Given the description of an element on the screen output the (x, y) to click on. 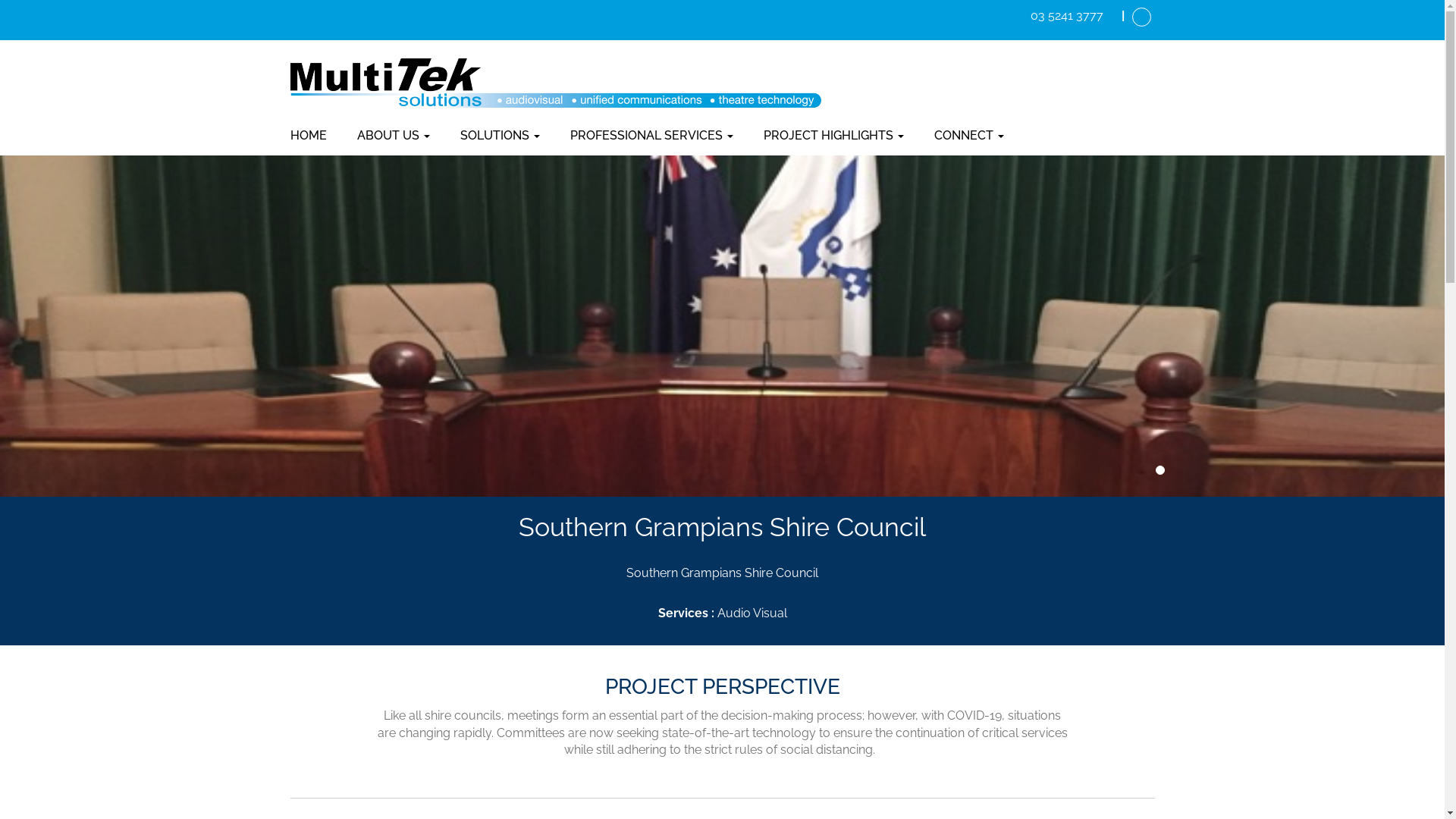
Audio Visual Element type: text (752, 612)
03 5241 3777 Element type: text (1066, 13)
linkedin Element type: hover (1140, 16)
PROFESSIONAL SERVICES Element type: text (651, 135)
CONNECT Element type: text (969, 135)
PROJECT HIGHLIGHTS Element type: text (832, 135)
SOLUTIONS Element type: text (499, 135)
HOME Element type: text (315, 135)
ABOUT US Element type: text (392, 135)
